Given the description of an element on the screen output the (x, y) to click on. 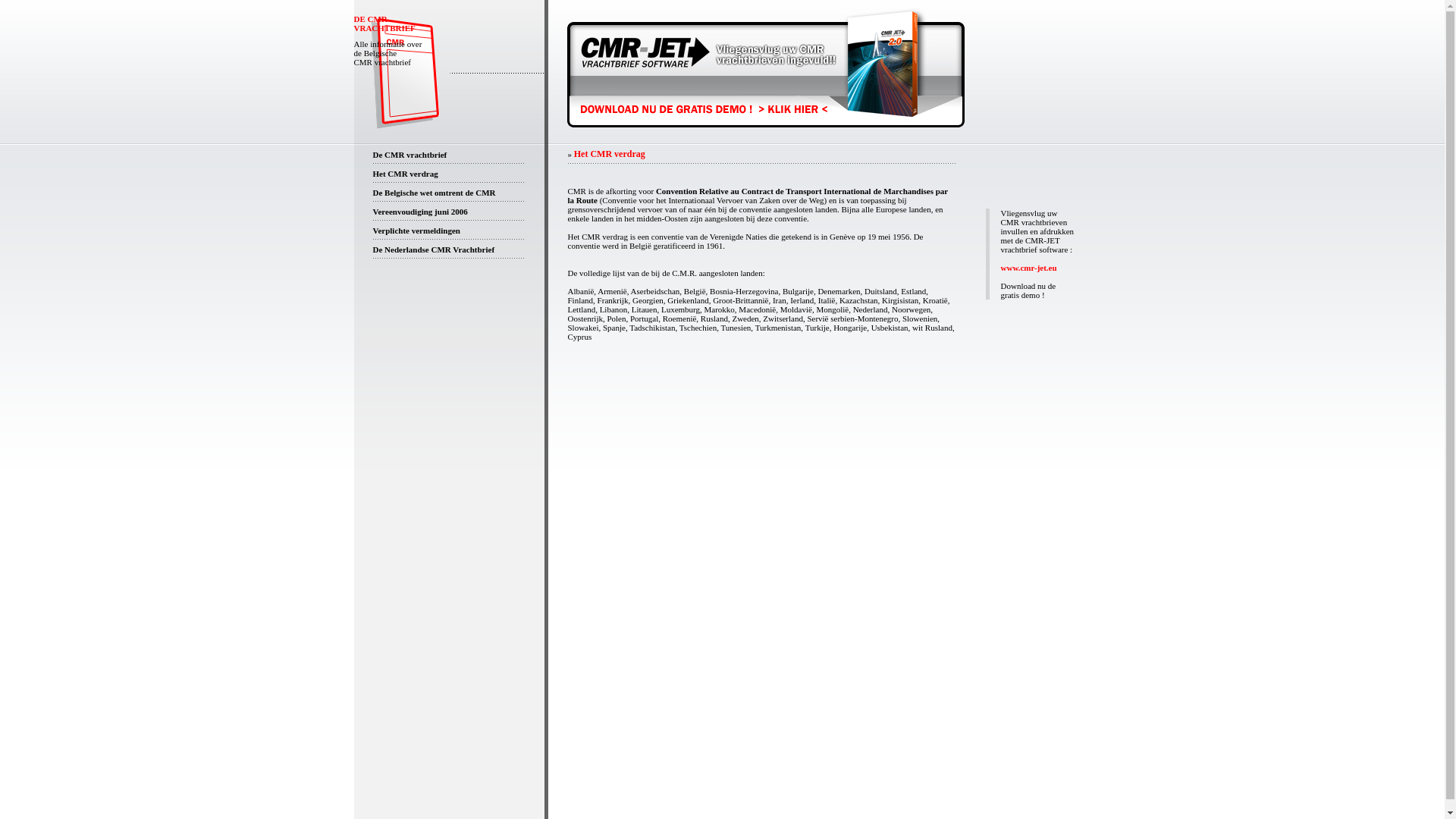
De CMR vrachtbrief Element type: text (410, 154)
Het CMR verdrag Element type: text (405, 172)
www.cmr-jet.eu Element type: text (1029, 267)
Verplichte vermeldingen Element type: text (416, 230)
Vereenvoudiging juni 2006 Element type: text (420, 210)
De Belgische wet omtrent de CMR Element type: text (434, 192)
De Nederlandse CMR Vrachtbrief Element type: text (434, 248)
